Given the description of an element on the screen output the (x, y) to click on. 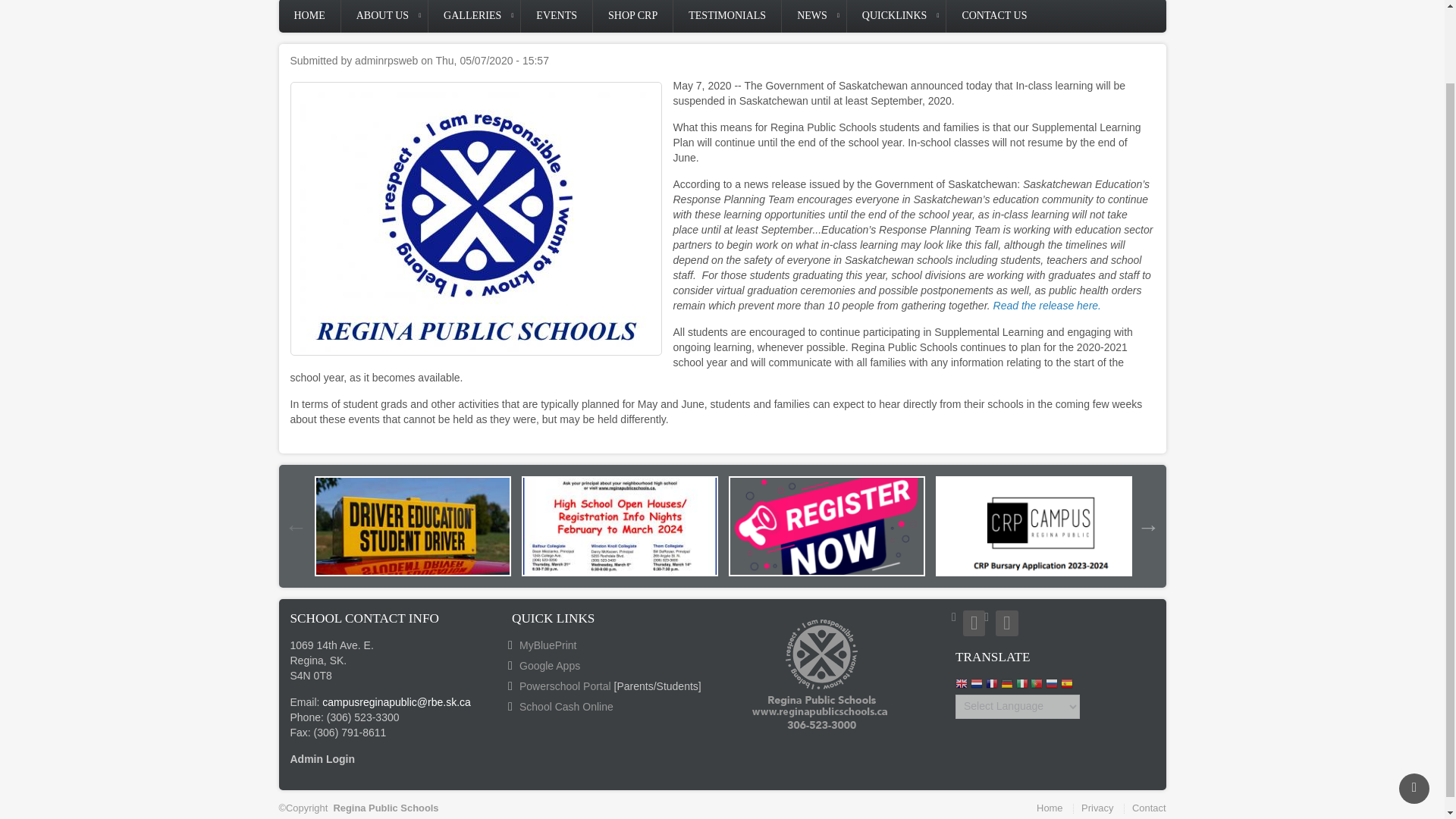
CONTACT US (994, 16)
NEWS (813, 16)
Previous (295, 526)
SHOP CRP (632, 16)
TESTIMONIALS (726, 16)
ABOUT US (384, 16)
QUICKLINKS (896, 16)
GALLERIES (473, 16)
Back to Top (1414, 705)
HOME (309, 16)
EVENTS (556, 16)
Read the release here. (1046, 305)
